Given the description of an element on the screen output the (x, y) to click on. 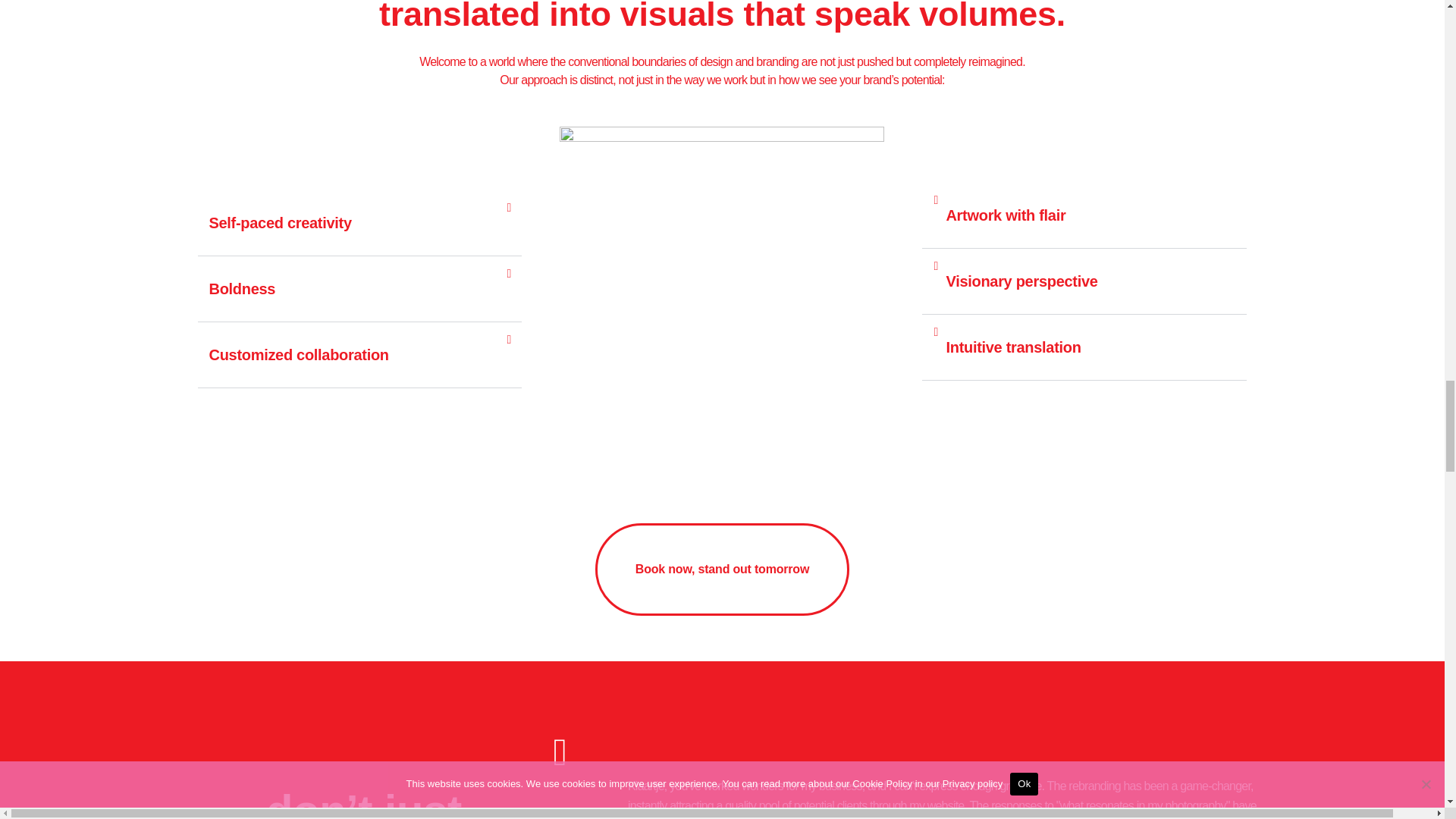
Self-paced creativity (280, 222)
Customized collaboration (298, 354)
Book now, stand out tomorrow (721, 569)
Intuitive translation (1012, 347)
Visionary perspective (1020, 280)
Boldness (242, 288)
Artwork with flair (1004, 215)
